Given the description of an element on the screen output the (x, y) to click on. 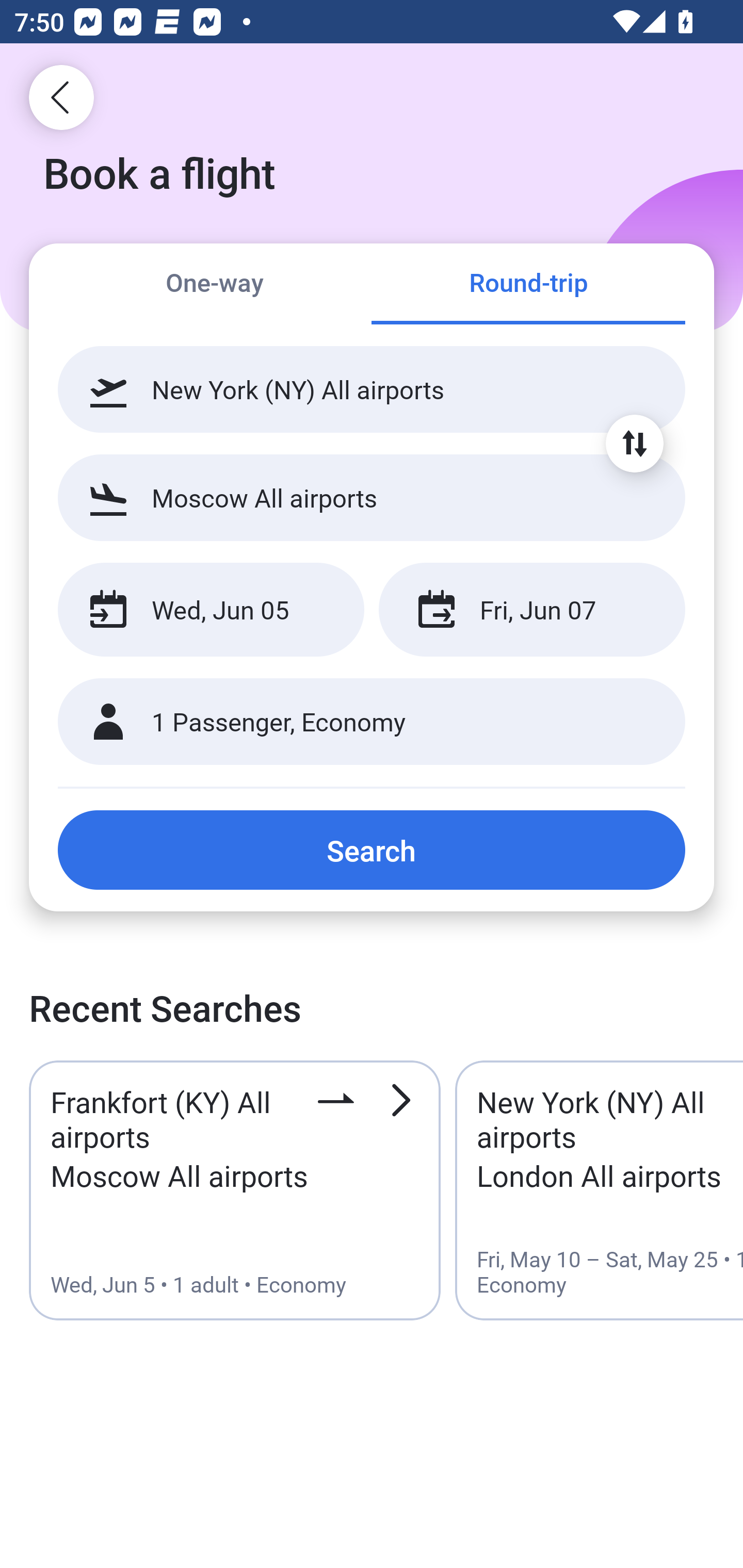
One-way (214, 284)
New York (NY) All airports (371, 389)
Moscow All airports (371, 497)
Wed, Jun 05 (210, 609)
Fri, Jun 07 (531, 609)
1 Passenger, Economy (371, 721)
Search (371, 849)
